Given the description of an element on the screen output the (x, y) to click on. 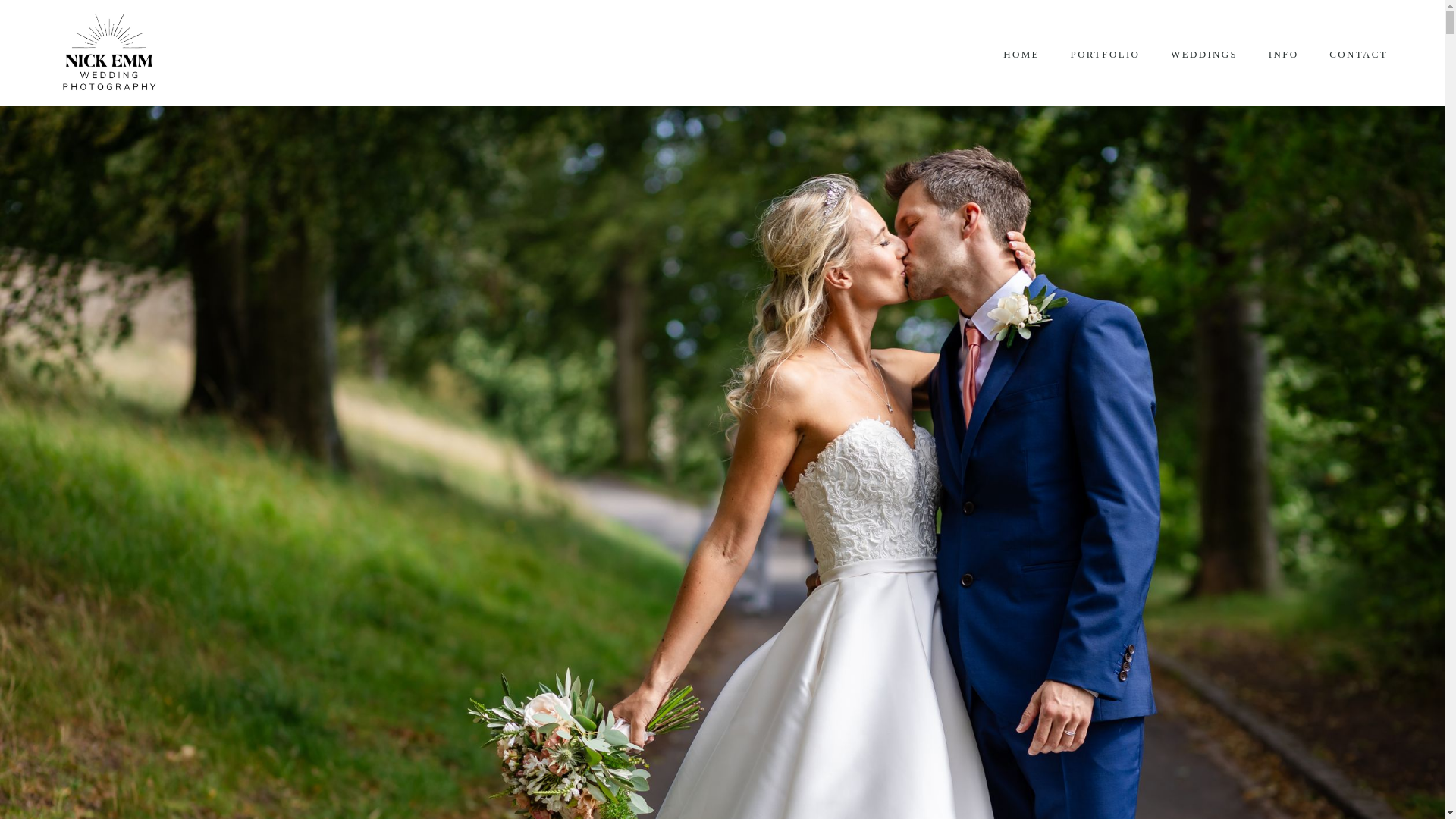
CONTACT (1358, 54)
INFO (1282, 54)
HOME (1021, 54)
WEDDINGS (1203, 54)
PORTFOLIO (1104, 54)
